Given the description of an element on the screen output the (x, y) to click on. 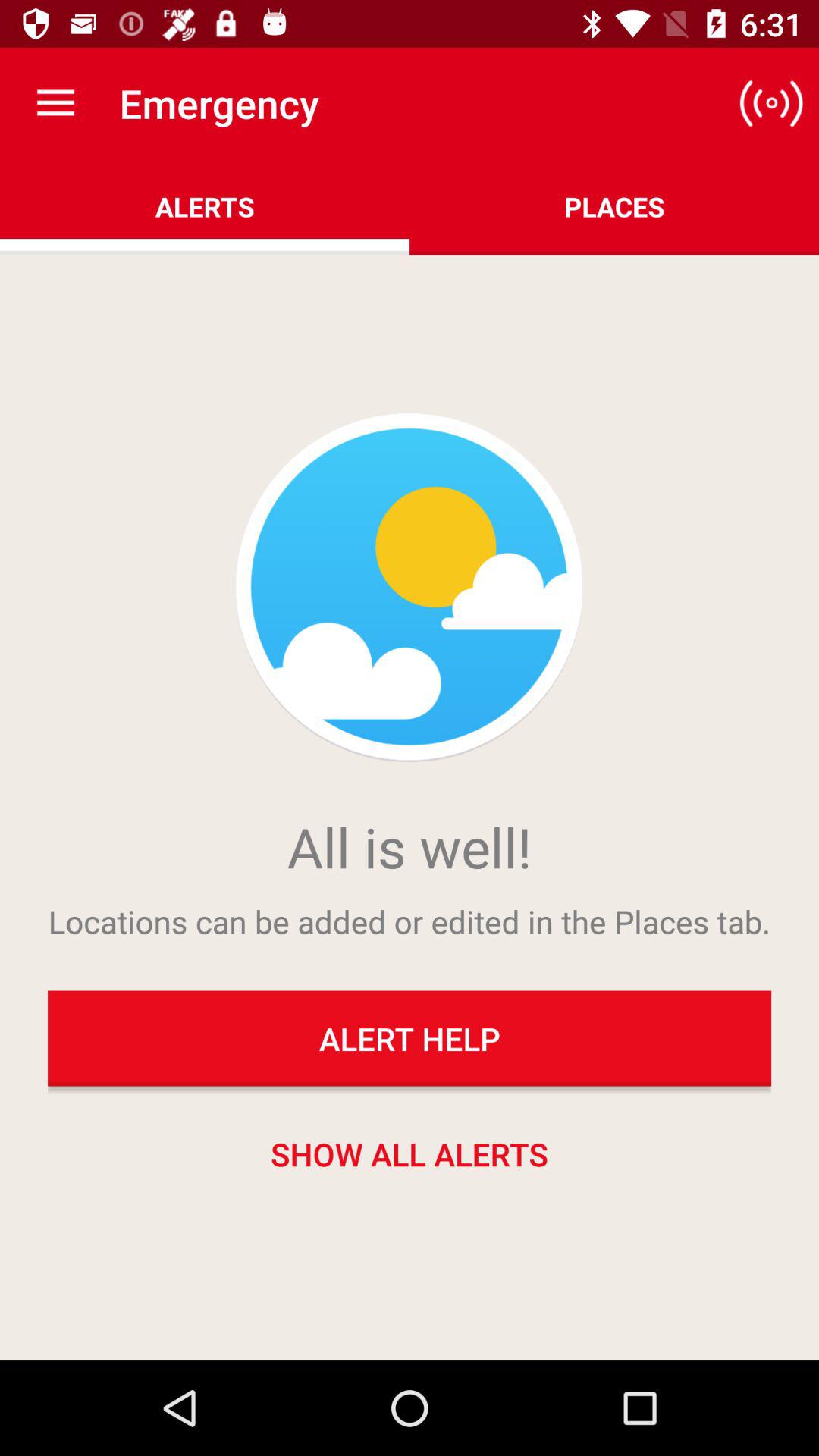
tap icon to the left of emergency icon (55, 103)
